Given the description of an element on the screen output the (x, y) to click on. 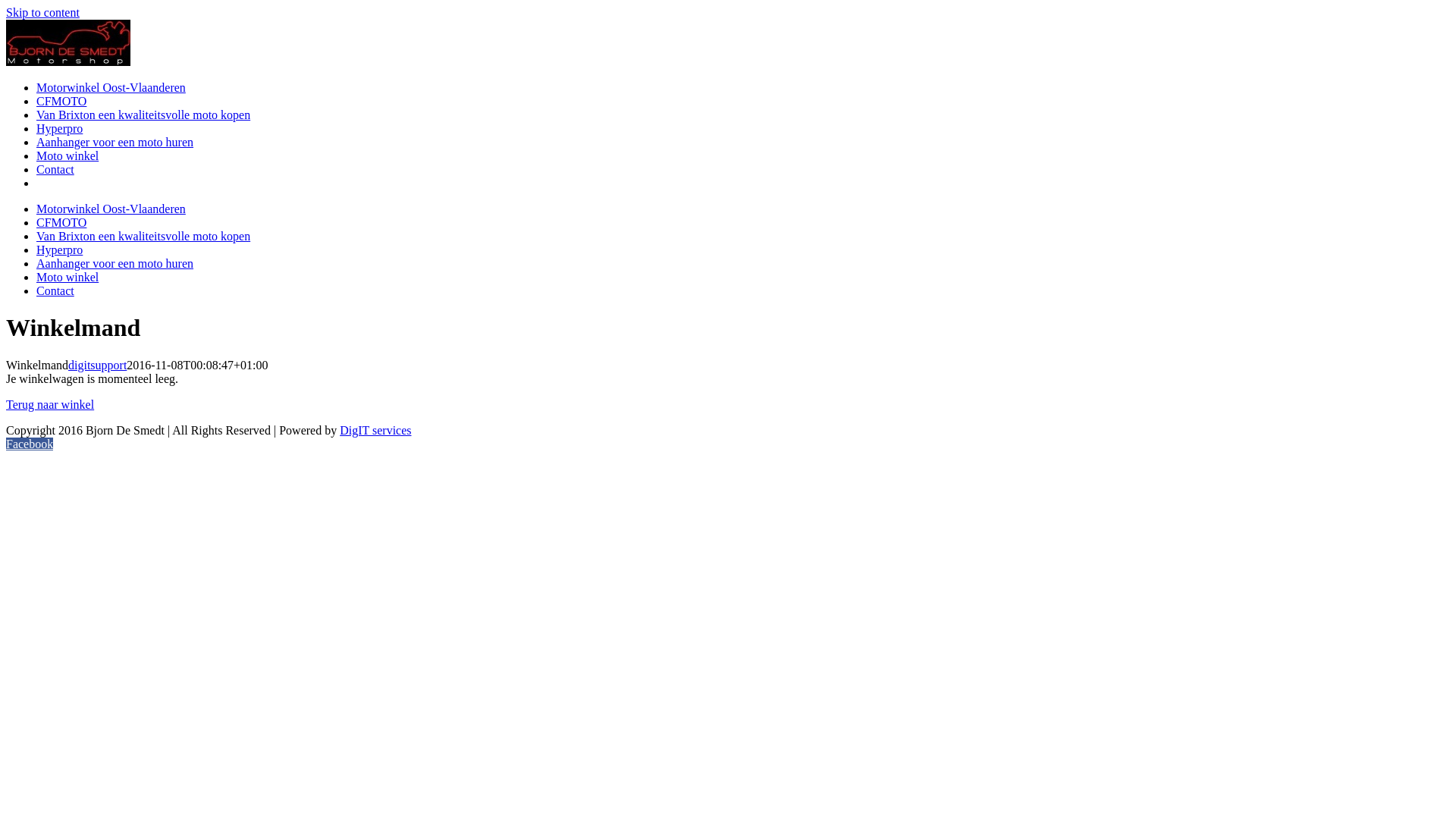
Aanhanger voor een moto huren Element type: text (114, 141)
digitsupport Element type: text (97, 364)
Moto winkel Element type: text (67, 276)
Hyperpro Element type: text (59, 249)
Aanhanger voor een moto huren Element type: text (114, 263)
Van Brixton een kwaliteitsvolle moto kopen Element type: text (143, 114)
Motorwinkel Oost-Vlaanderen Element type: text (110, 208)
Hyperpro Element type: text (59, 128)
Skip to content Element type: text (42, 12)
Contact Element type: text (55, 169)
DigIT services Element type: text (375, 429)
Facebook Element type: text (29, 443)
Terug naar winkel Element type: text (50, 404)
Contact Element type: text (55, 290)
CFMOTO Element type: text (61, 100)
CFMOTO Element type: text (61, 222)
Moto winkel Element type: text (67, 155)
Van Brixton een kwaliteitsvolle moto kopen Element type: text (143, 235)
Motorwinkel Oost-Vlaanderen Element type: text (110, 87)
